Given the description of an element on the screen output the (x, y) to click on. 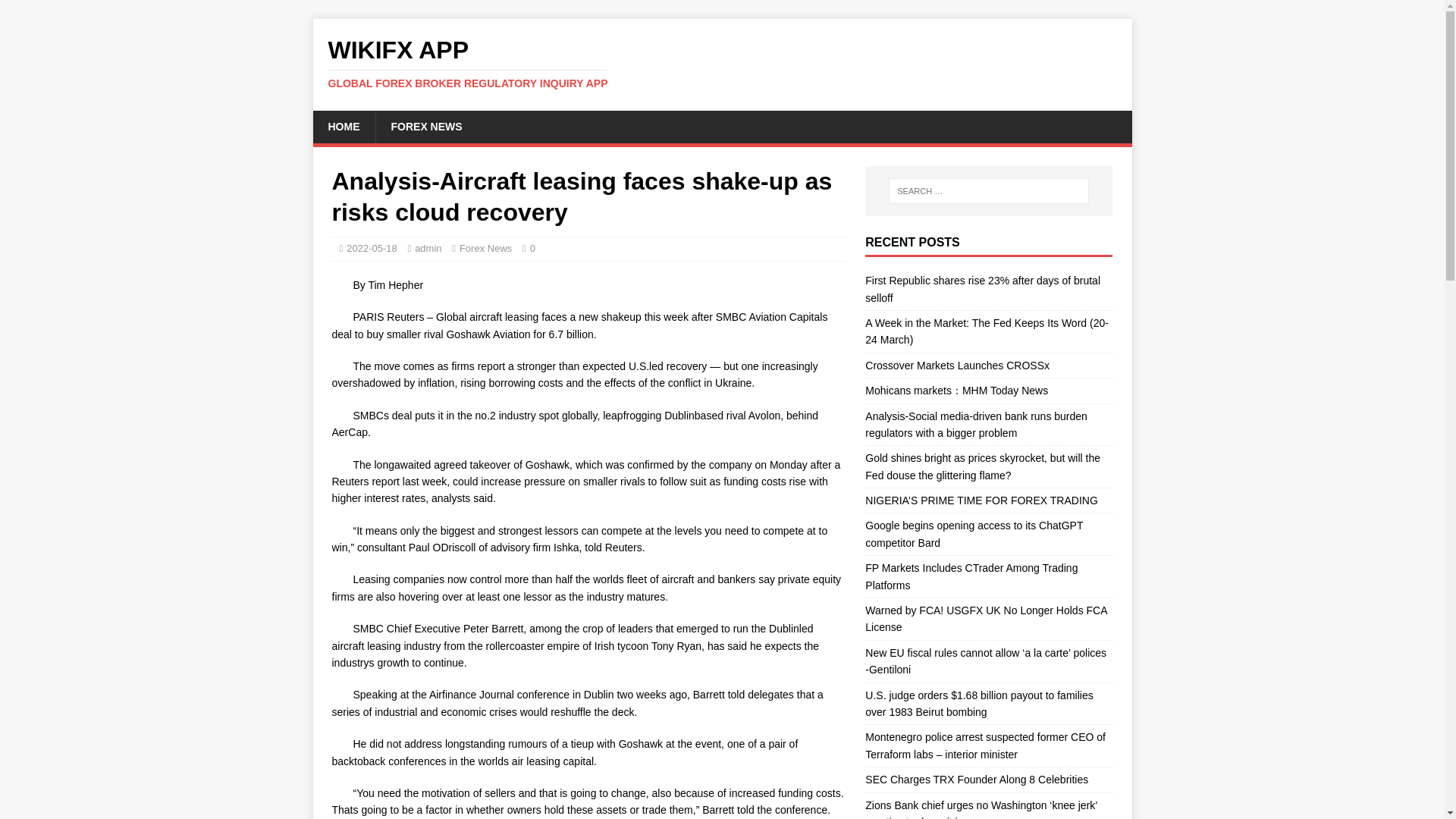
Crossover Markets Launches CROSSx (956, 365)
Search (56, 11)
FP Markets Includes CTrader Among Trading Platforms (970, 575)
2022-05-18 (371, 247)
Forex News (486, 247)
Google begins opening access to its ChatGPT competitor Bard (721, 63)
WikiFX APP (973, 533)
SEC Charges TRX Founder Along 8 Celebrities (721, 63)
Warned by FCA! USGFX UK No Longer Holds FCA License (975, 779)
admin (985, 618)
HOME (427, 247)
FOREX NEWS (343, 126)
